Given the description of an element on the screen output the (x, y) to click on. 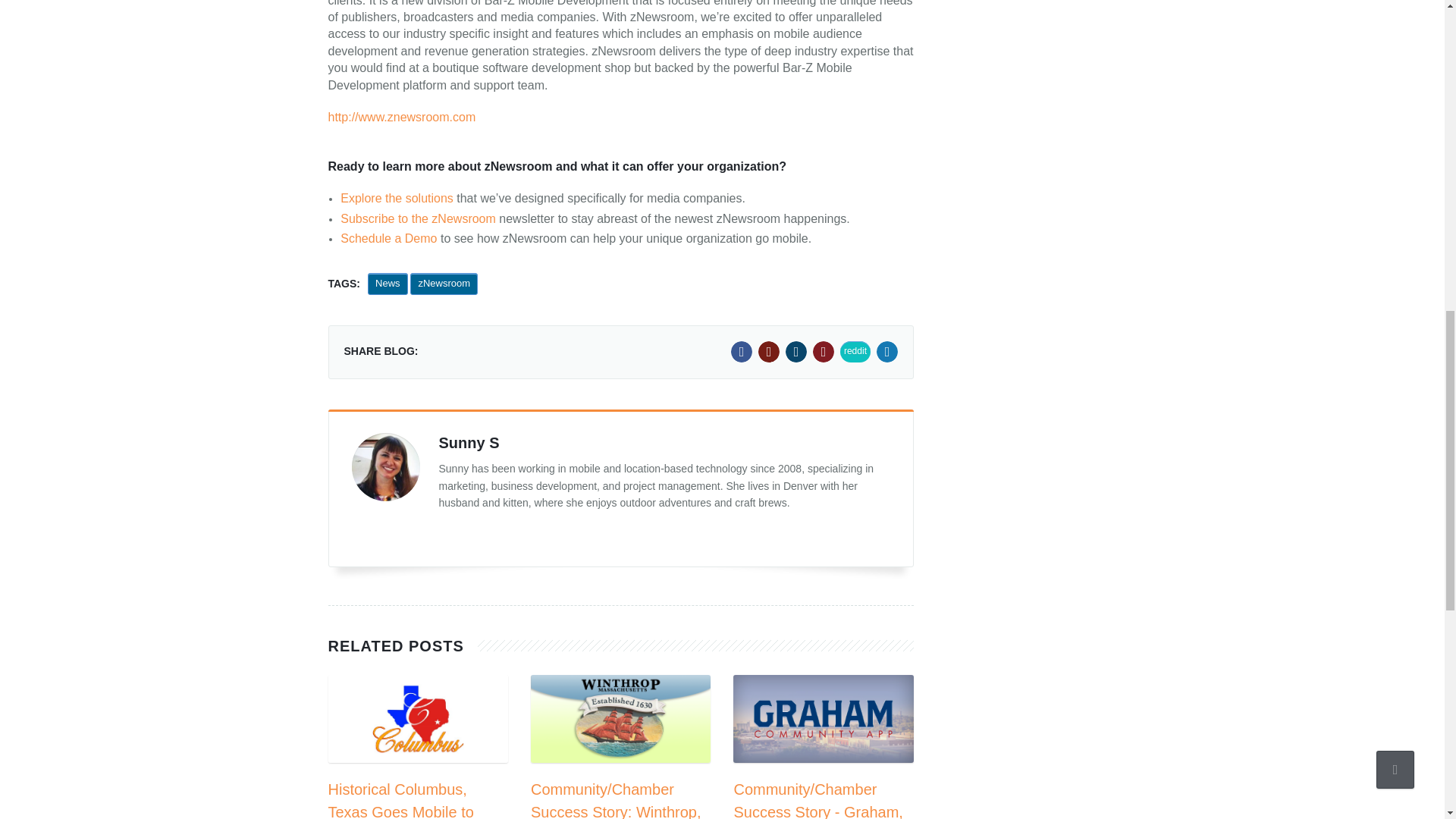
News (387, 283)
Explore the solutions (396, 197)
Schedule a Demo (388, 237)
Twitter (887, 351)
LinkedIn (796, 351)
Subscribe to the zNewsroom (418, 218)
Google Plus (768, 351)
Pinterest (823, 351)
Facebook (741, 351)
Reddit (855, 351)
zNewsroom (443, 283)
